Given the description of an element on the screen output the (x, y) to click on. 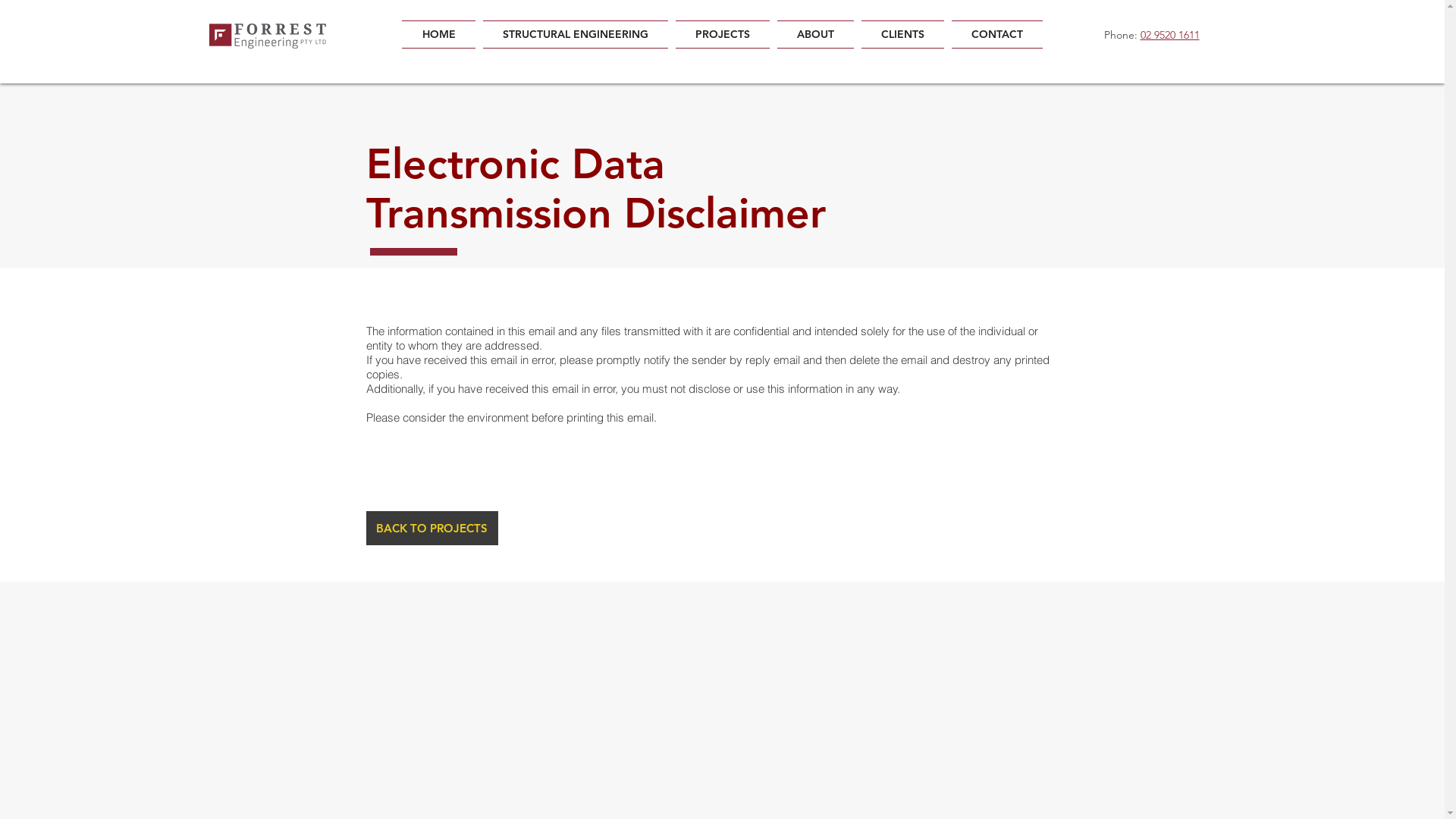
ABOUT Element type: text (815, 34)
PROJECTS Element type: text (722, 34)
HOME Element type: text (440, 34)
STRUCTURAL ENGINEERING Element type: text (575, 34)
02 9520 1611 Element type: text (1169, 34)
CONTACT Element type: text (994, 34)
BACK TO PROJECTS Element type: text (431, 528)
CLIENTS Element type: text (902, 34)
